Given the description of an element on the screen output the (x, y) to click on. 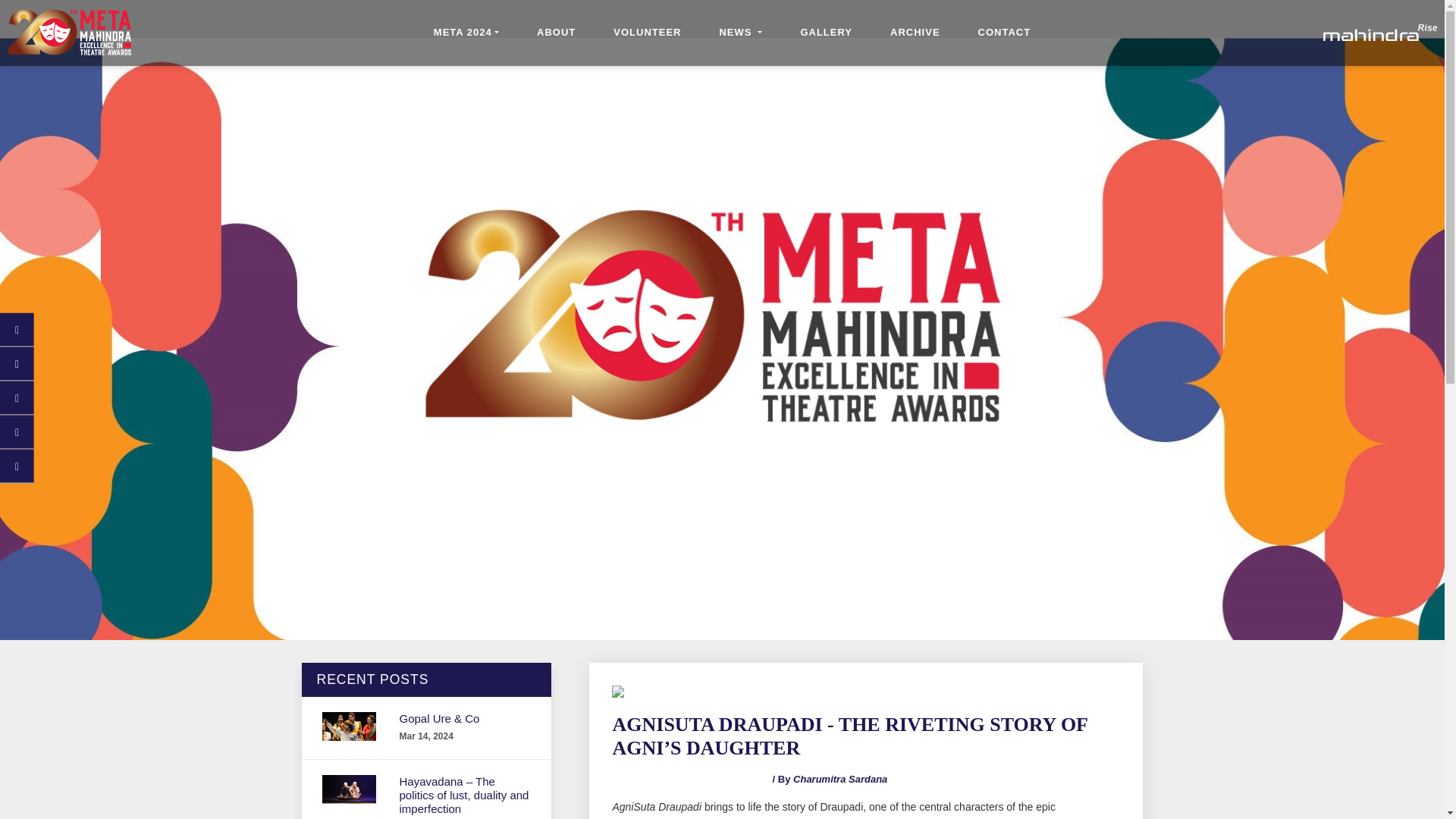
ARCHIVE (914, 33)
CONTACT (1004, 33)
ABOUT (556, 33)
META 2024 (466, 33)
GALLERY (825, 33)
VOLUNTEER (647, 33)
Facebook (16, 329)
NEWS (740, 33)
